Given the description of an element on the screen output the (x, y) to click on. 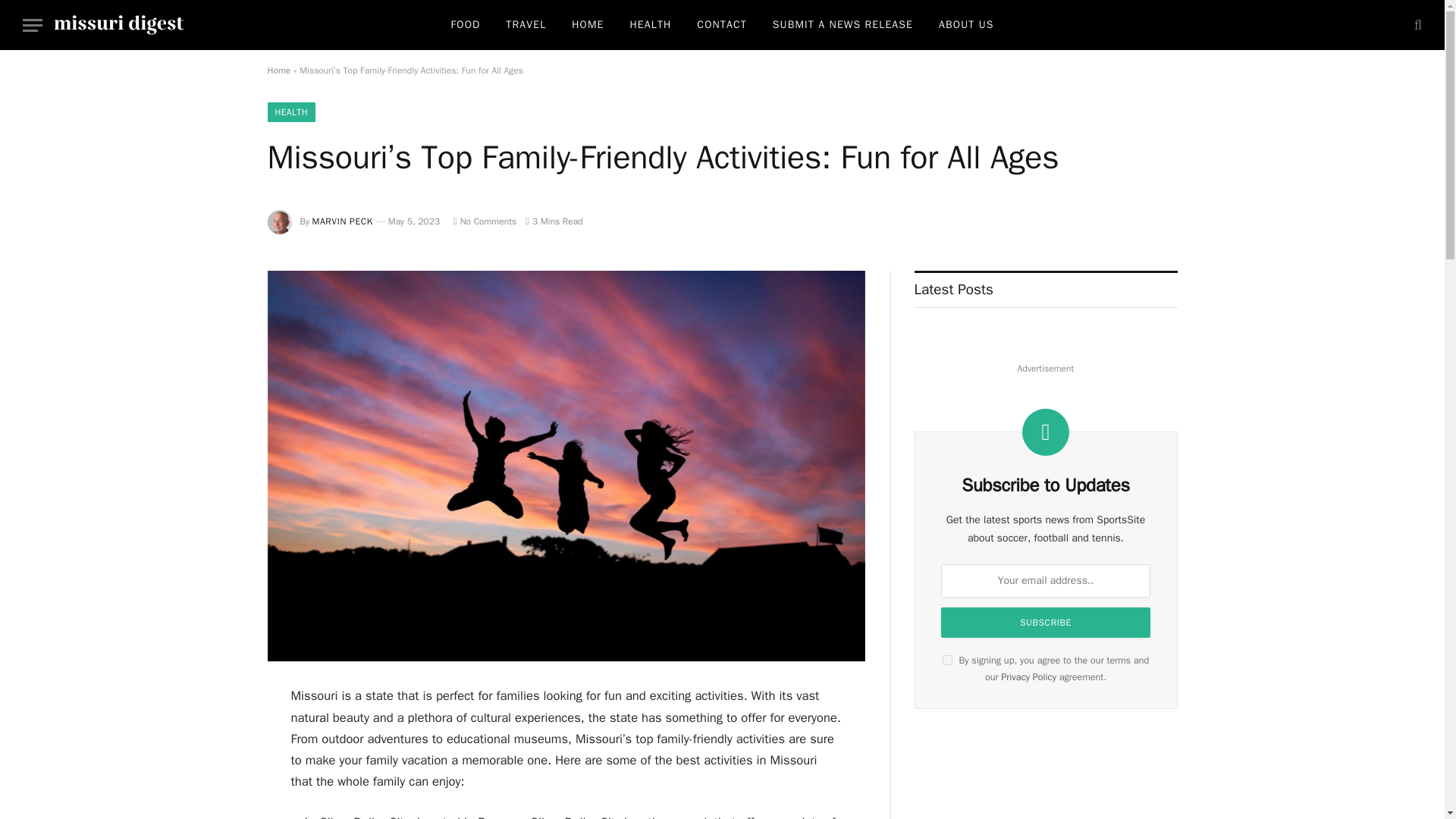
Home (277, 70)
HOME (587, 24)
on (947, 660)
Missouri Digest (118, 24)
CONTACT (721, 24)
No Comments (484, 221)
ABOUT US (966, 24)
SUBMIT A NEWS RELEASE (843, 24)
Subscribe (1045, 622)
TRAVEL (526, 24)
